Given the description of an element on the screen output the (x, y) to click on. 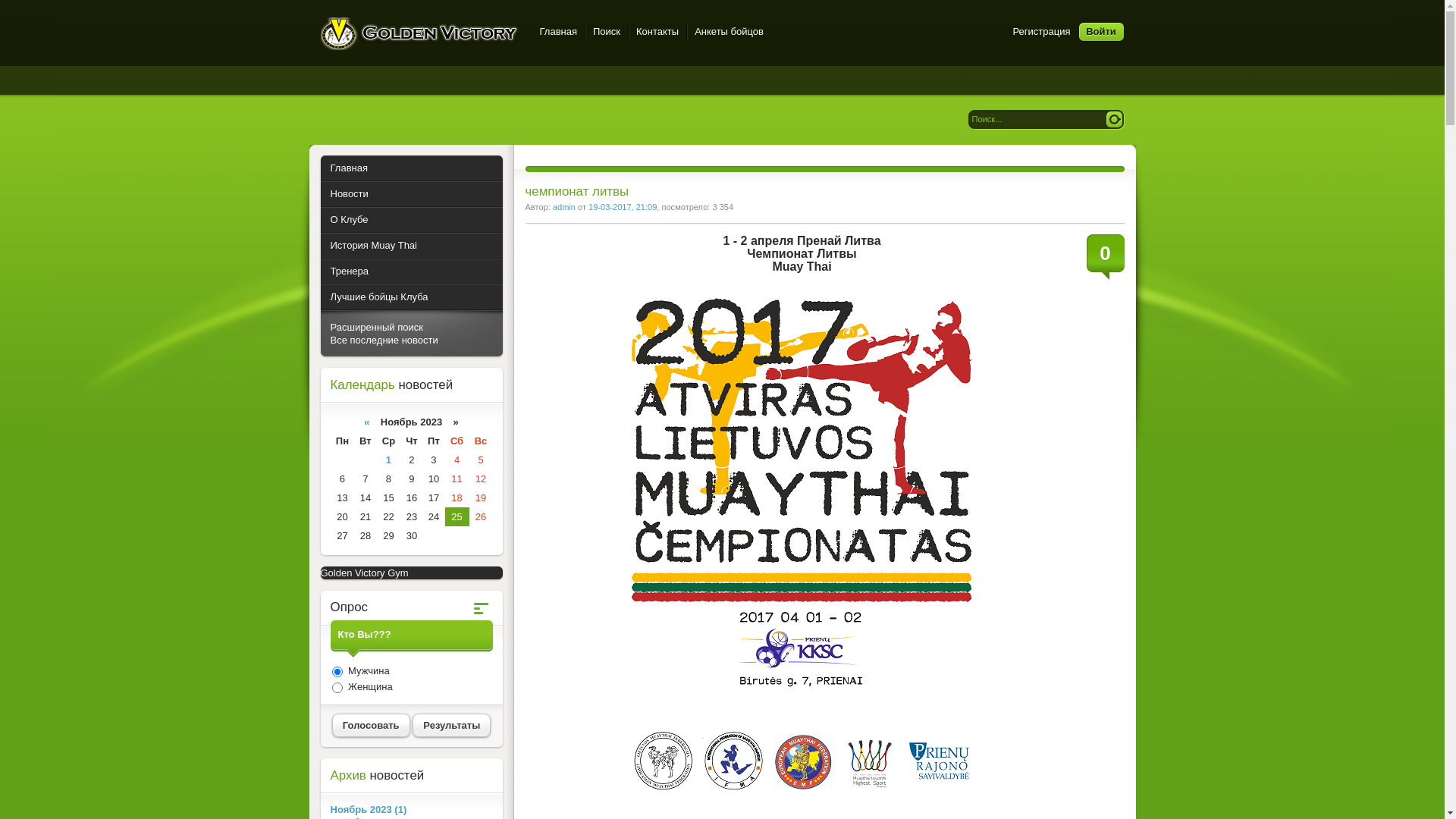
19-03-2017, 21:09 Element type: text (622, 206)
admin Element type: text (563, 206)
1 Element type: text (388, 459)
Golden Victory Gym Element type: text (363, 572)
